Given the description of an element on the screen output the (x, y) to click on. 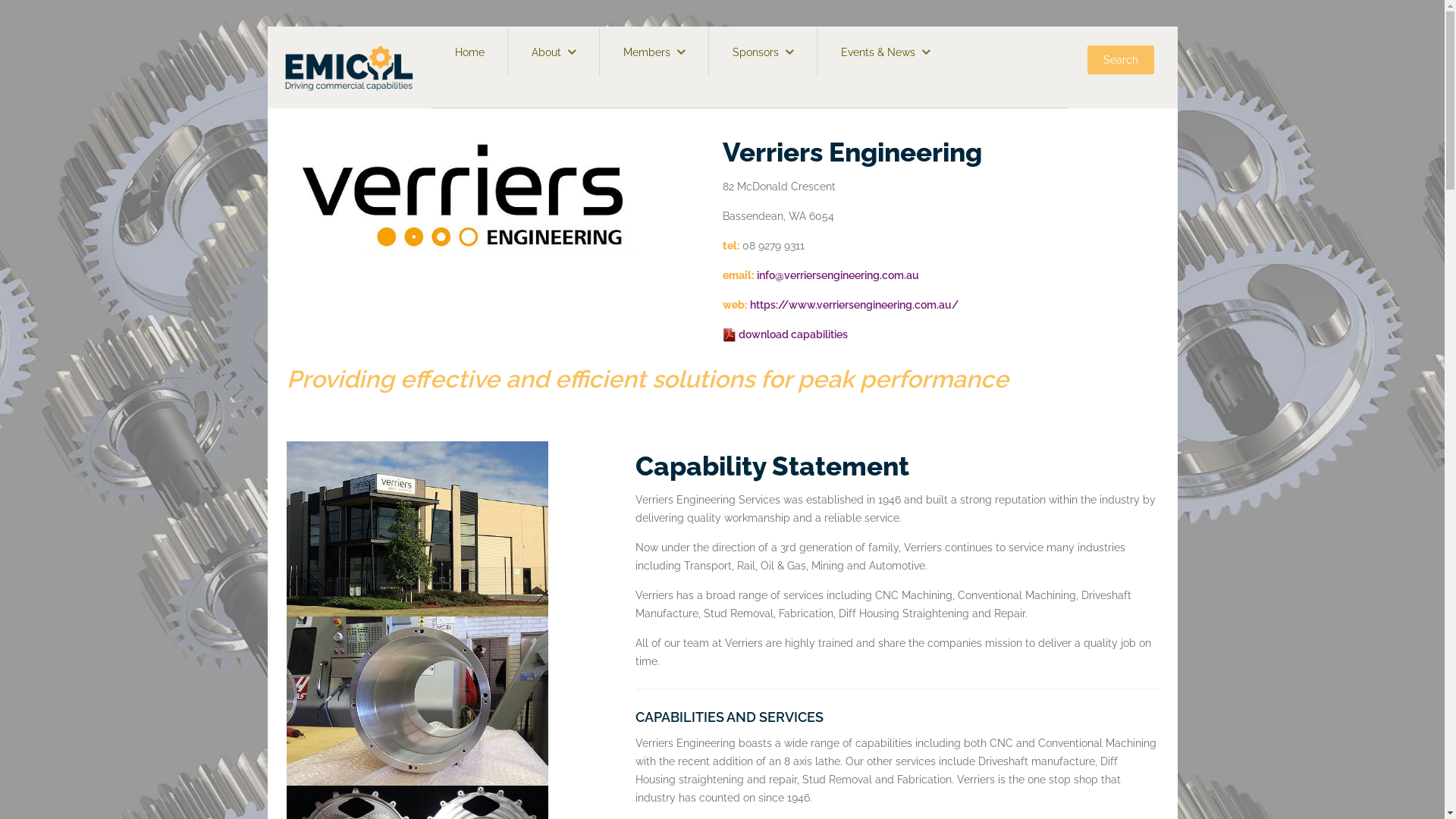
download capabilities Element type: text (784, 333)
Home Element type: text (469, 51)
https://www.verriersengineering.com.au/ Element type: text (853, 304)
info@verriersengineering.com.au Element type: text (837, 274)
EMICoL - Driving commercial capabilities Element type: hover (348, 67)
Search Element type: text (1120, 59)
